Given the description of an element on the screen output the (x, y) to click on. 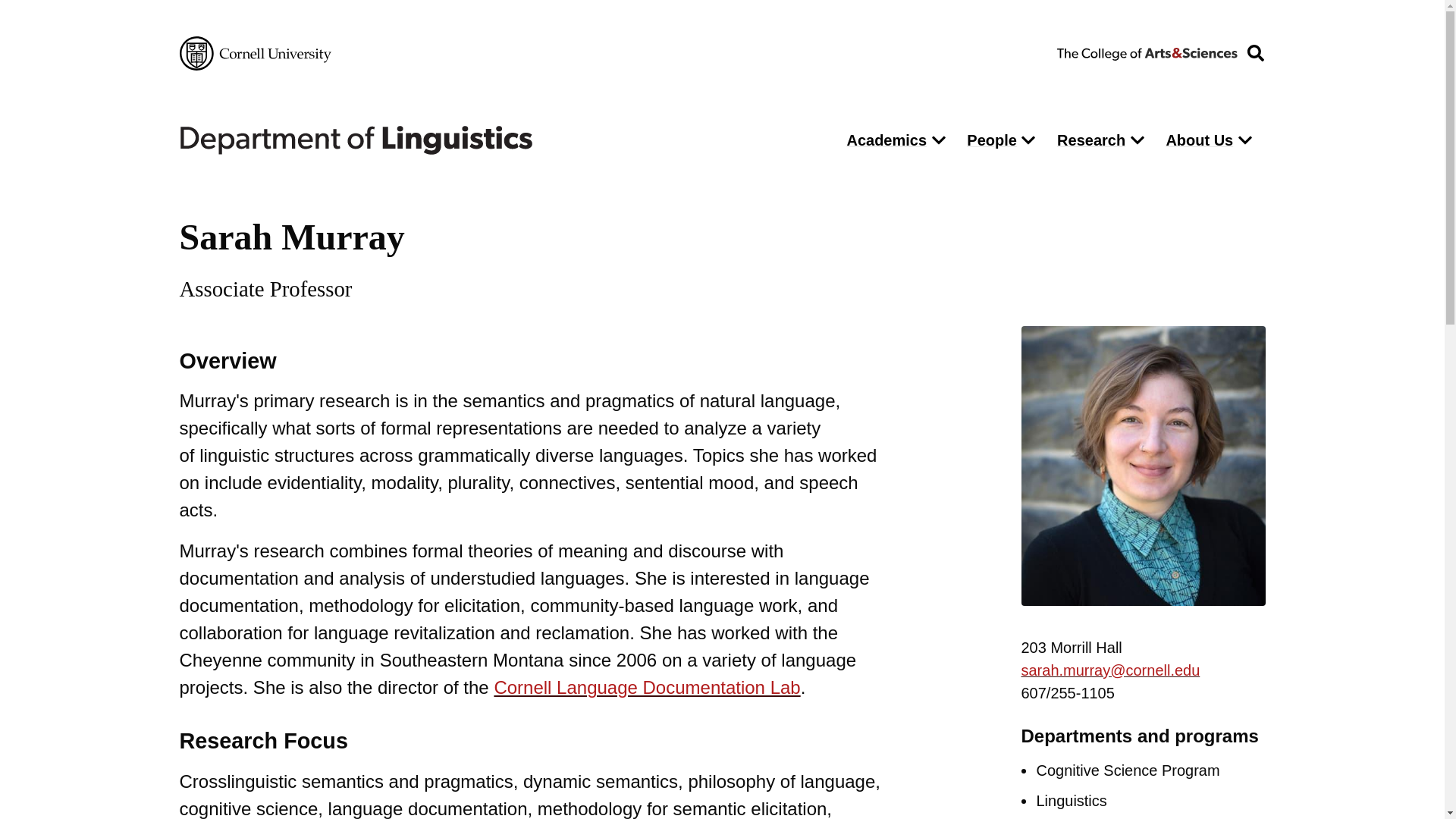
Open search (1255, 53)
Cornell University (254, 53)
People (987, 139)
Academics (882, 139)
About Us (1195, 139)
Cornell Language Documentation Lab (646, 687)
Research (1087, 139)
College of Arts and Sciences (1146, 52)
Cornell University (254, 53)
Search (975, 181)
Department Homepage (499, 140)
